Given the description of an element on the screen output the (x, y) to click on. 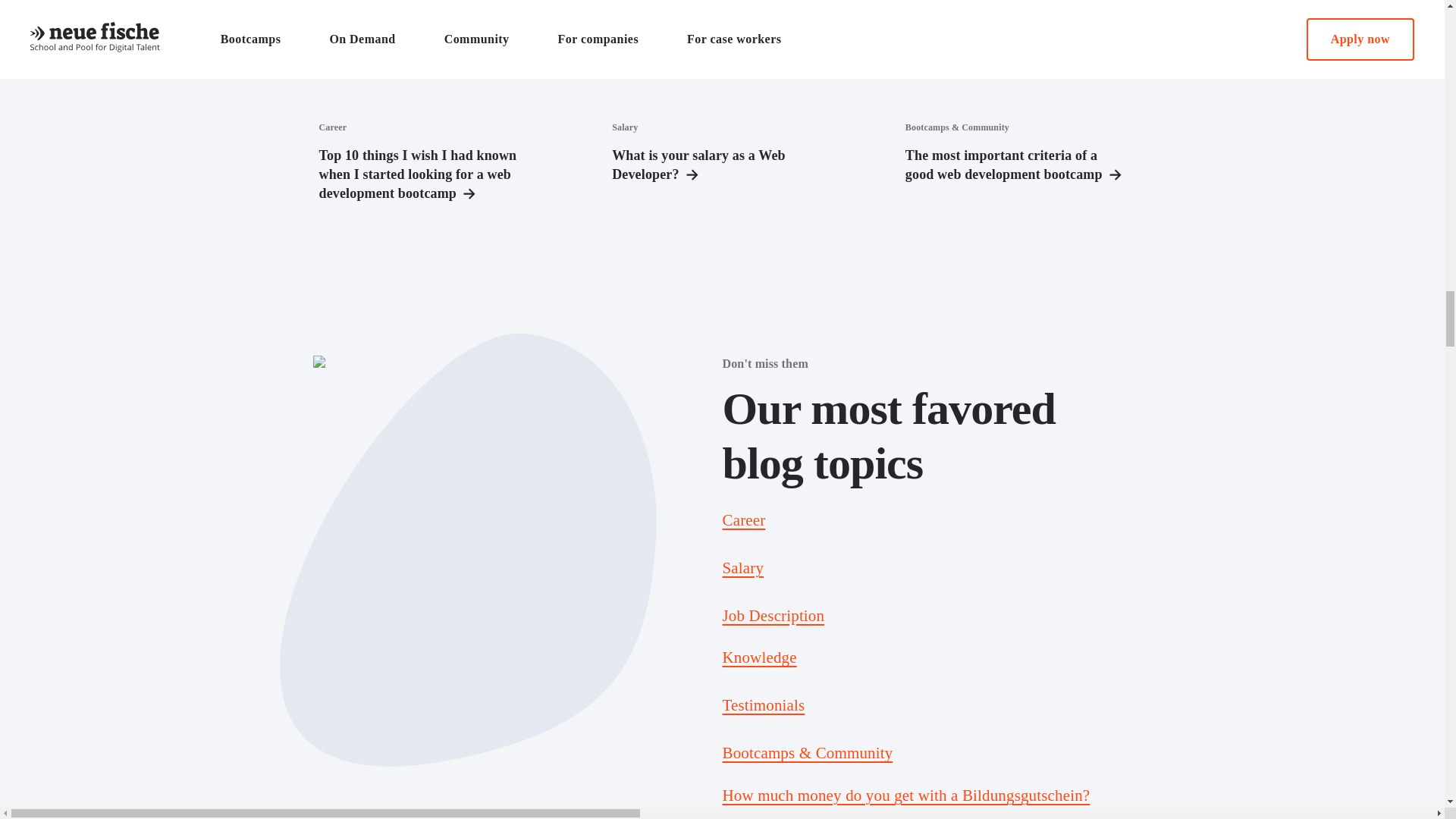
Salary (742, 567)
Career (743, 520)
Testimonials (763, 705)
Job Description (773, 615)
Knowledge (721, 104)
How much money do you get with a Bildungsgutschein? (759, 657)
